Given the description of an element on the screen output the (x, y) to click on. 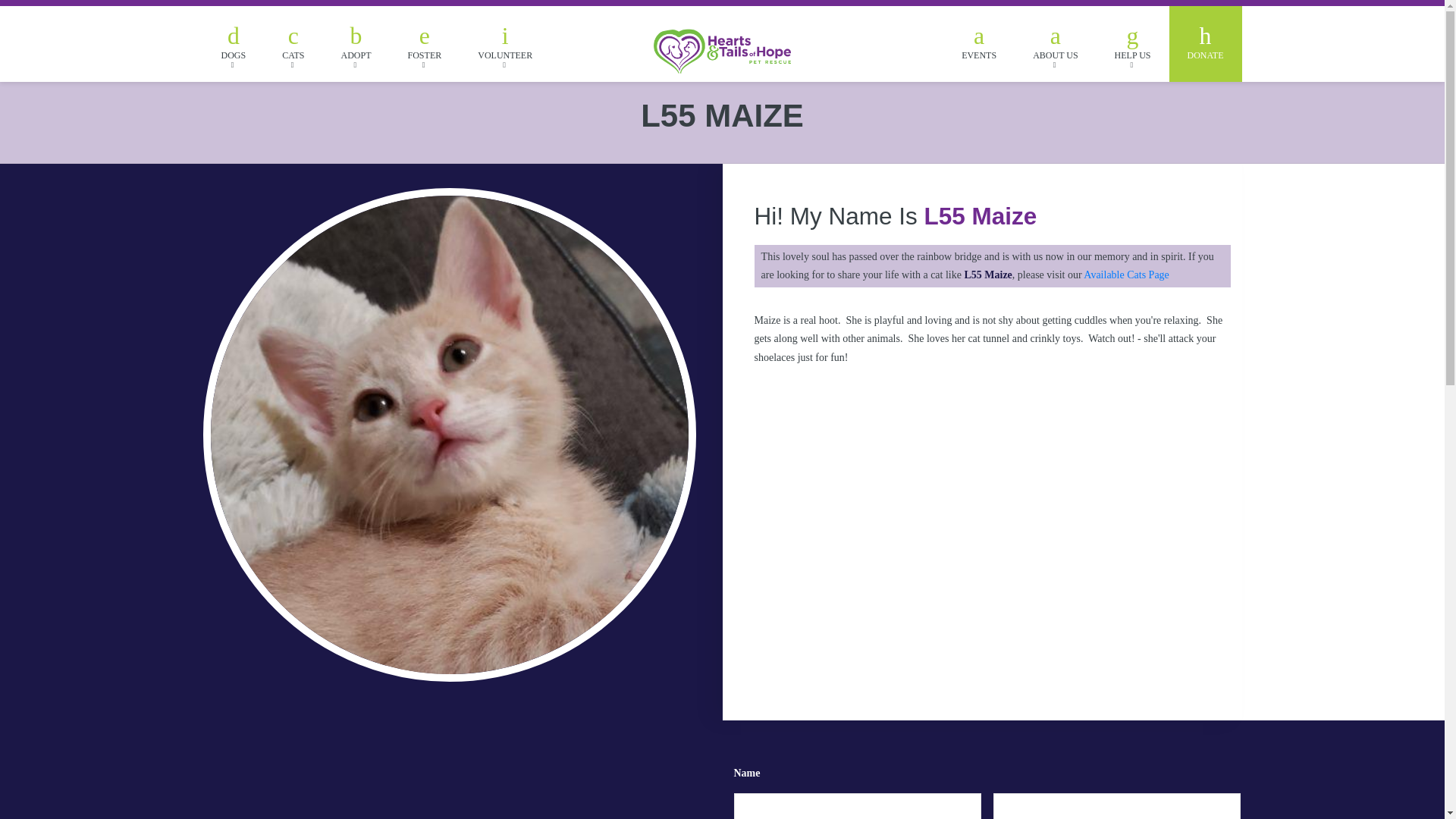
Available Cats Page (1126, 274)
ABOUT US (1055, 43)
EVENTS (978, 43)
Available Cats Page (1126, 274)
VOLUNTEER (505, 43)
DONATE (1205, 43)
HELP US (1132, 43)
FOSTER (425, 43)
